Given the description of an element on the screen output the (x, y) to click on. 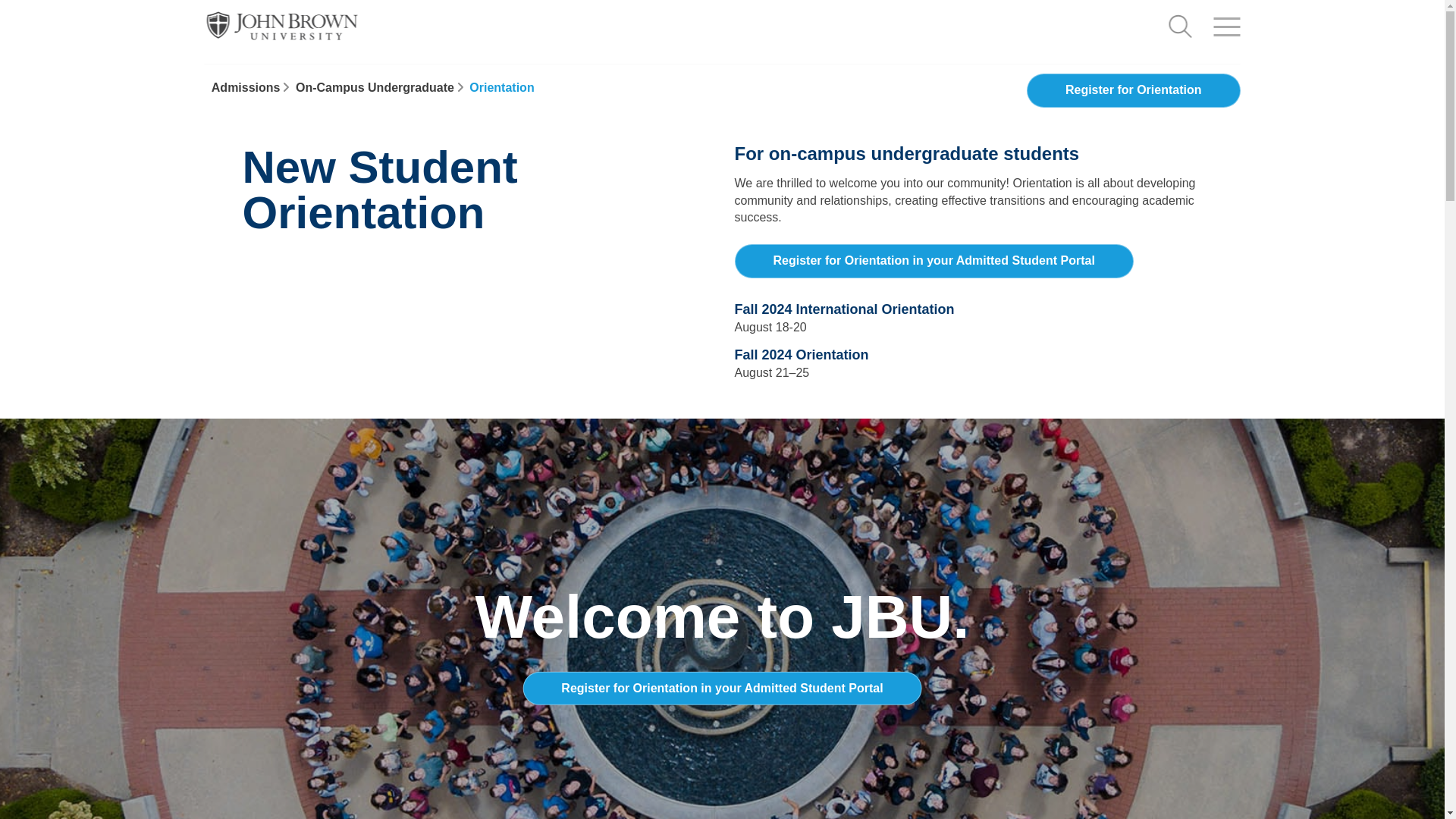
Register for Orientation in your Admitted Student Portal (721, 687)
Orientation (501, 87)
Register for Orientation (1133, 90)
On-Campus Undergraduate (567, 90)
Register for Orientation in your Admitted Student Portal (381, 87)
Admissions (932, 260)
